Given the description of an element on the screen output the (x, y) to click on. 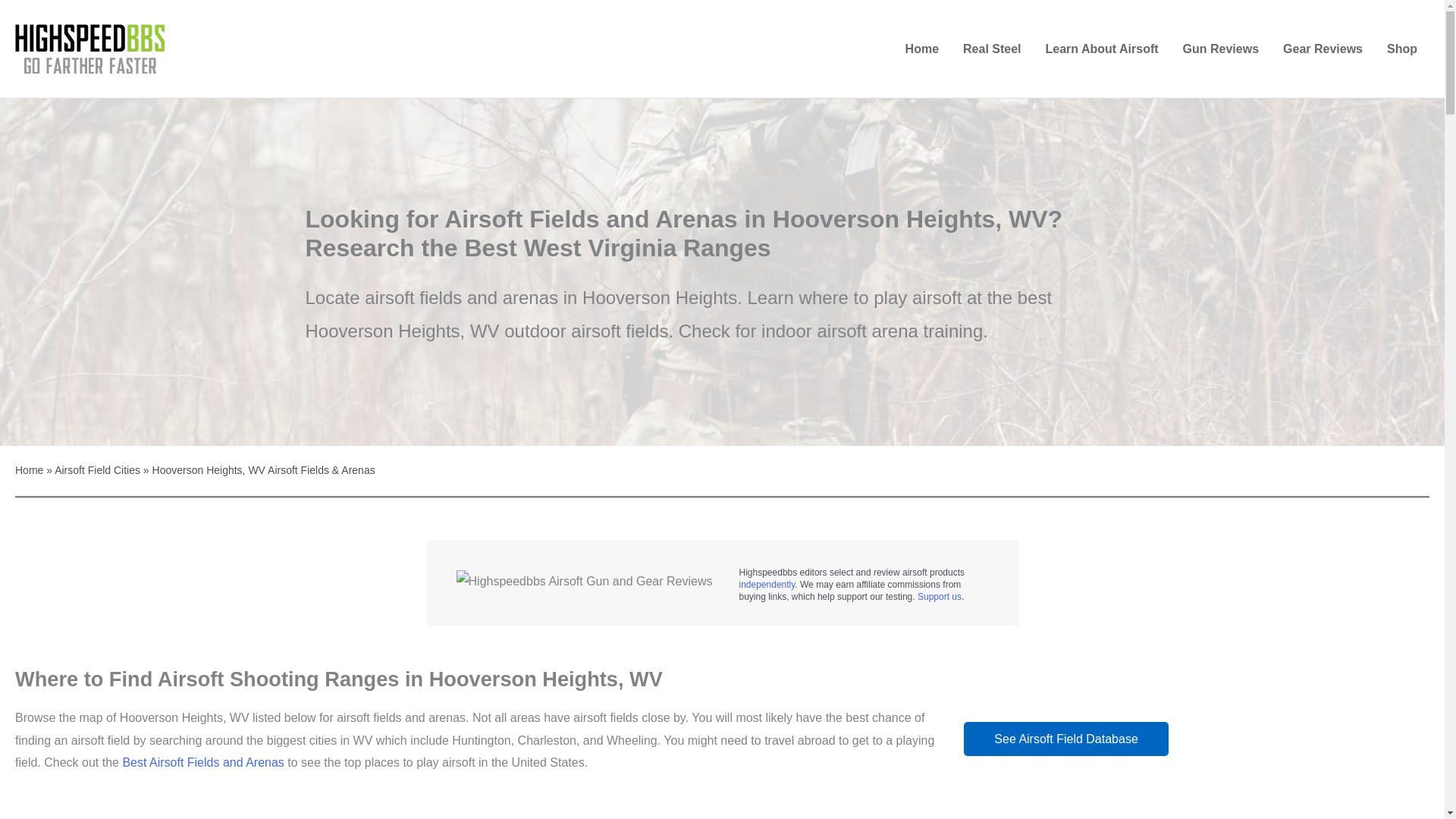
Gear Reviews (1322, 49)
Real Steel (991, 49)
Learn About Airsoft (1101, 49)
Home (921, 49)
Gun Reviews (1220, 49)
